Given the description of an element on the screen output the (x, y) to click on. 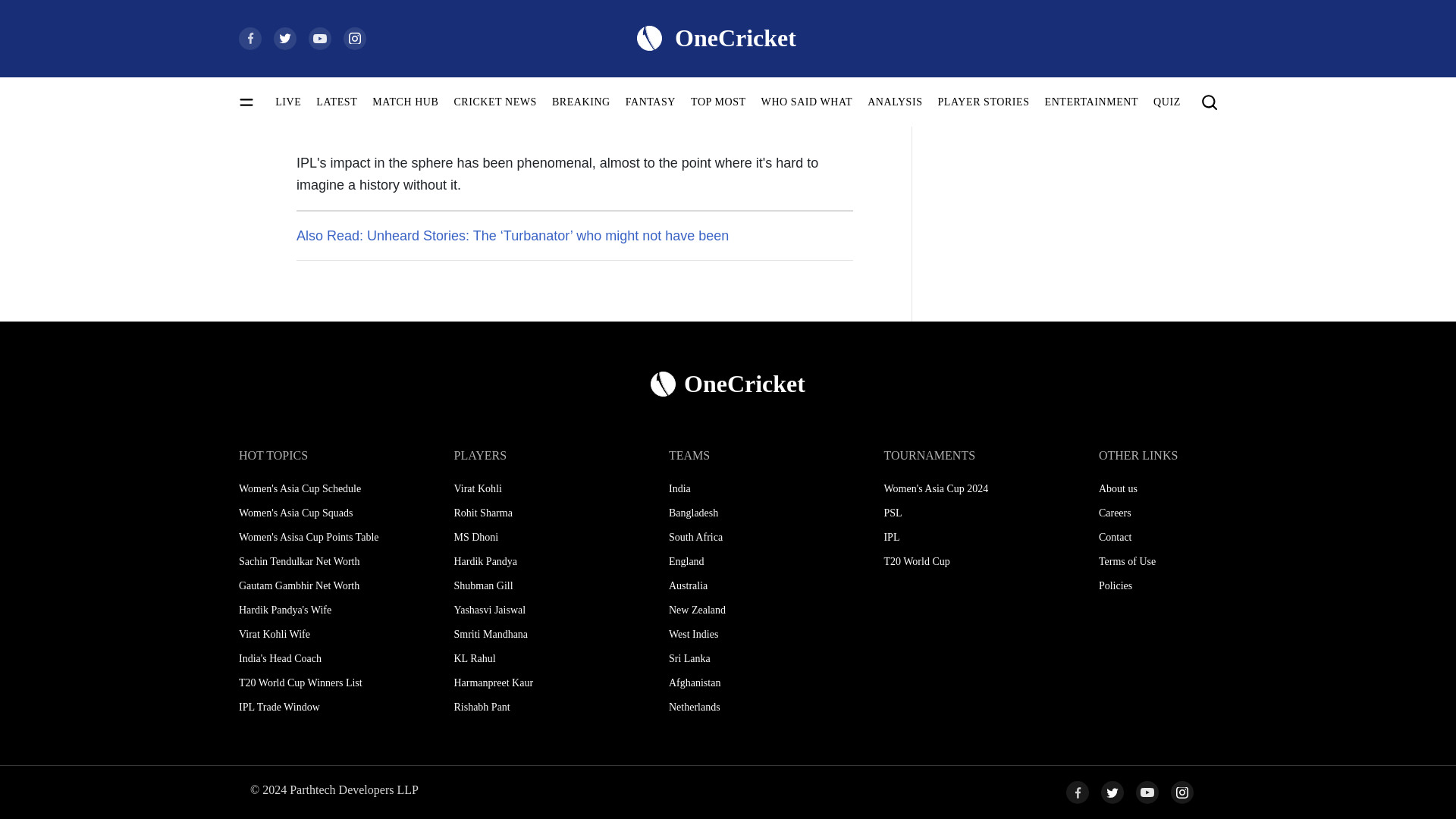
Sachin Tendulkar Net Worth (324, 561)
Women's Asisa Cup Points Table (324, 537)
OneCricket (727, 383)
Women's Asia Cup Schedule (324, 488)
Women's Asia Cup Squads (324, 513)
